Given the description of an element on the screen output the (x, y) to click on. 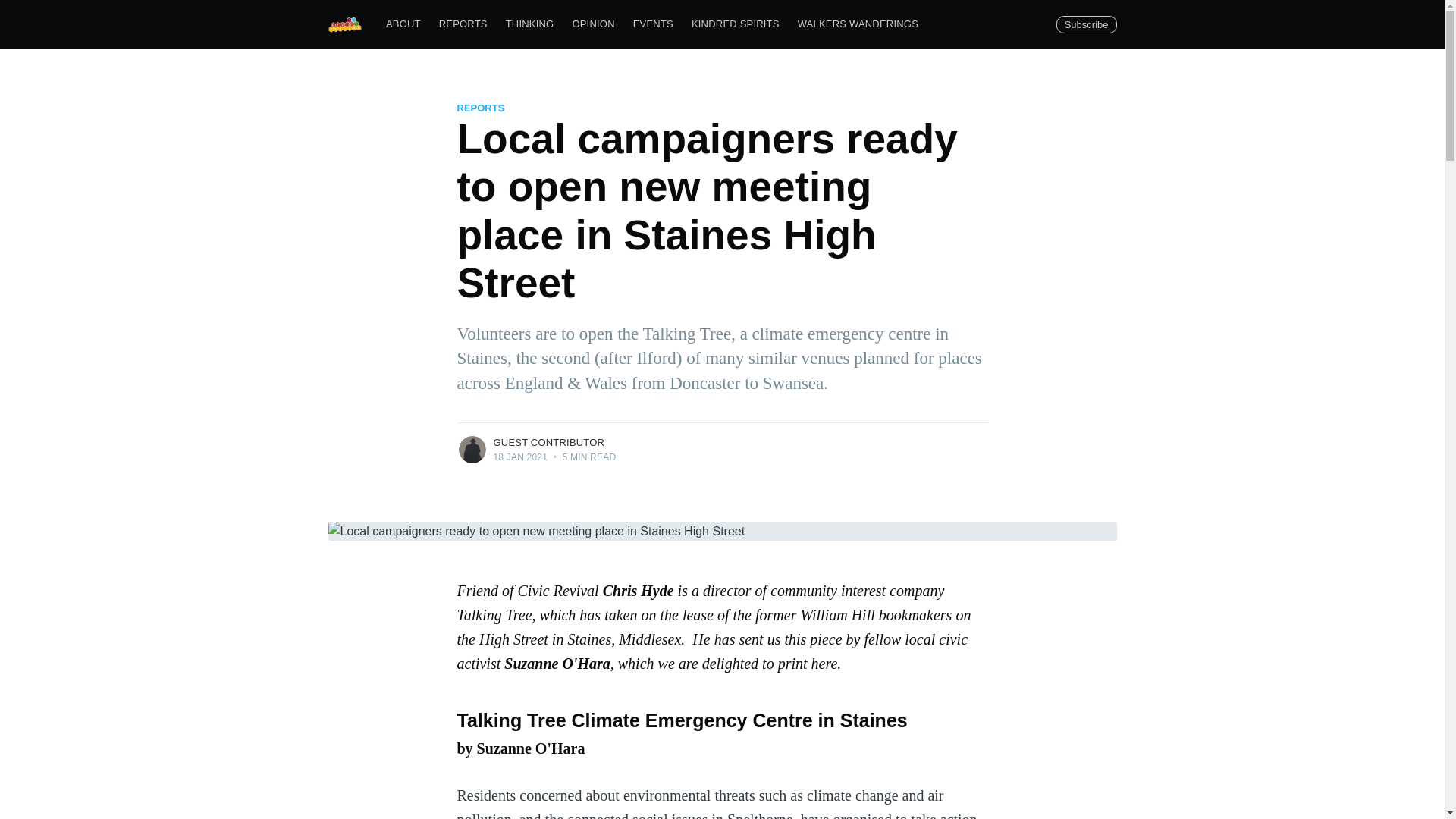
GUEST CONTRIBUTOR (548, 441)
REPORTS (480, 108)
WALKERS WANDERINGS (858, 24)
ABOUT (403, 24)
KINDRED SPIRITS (735, 24)
OPINION (592, 24)
THINKING (529, 24)
EVENTS (653, 24)
Subscribe (1086, 23)
REPORTS (462, 24)
